Given the description of an element on the screen output the (x, y) to click on. 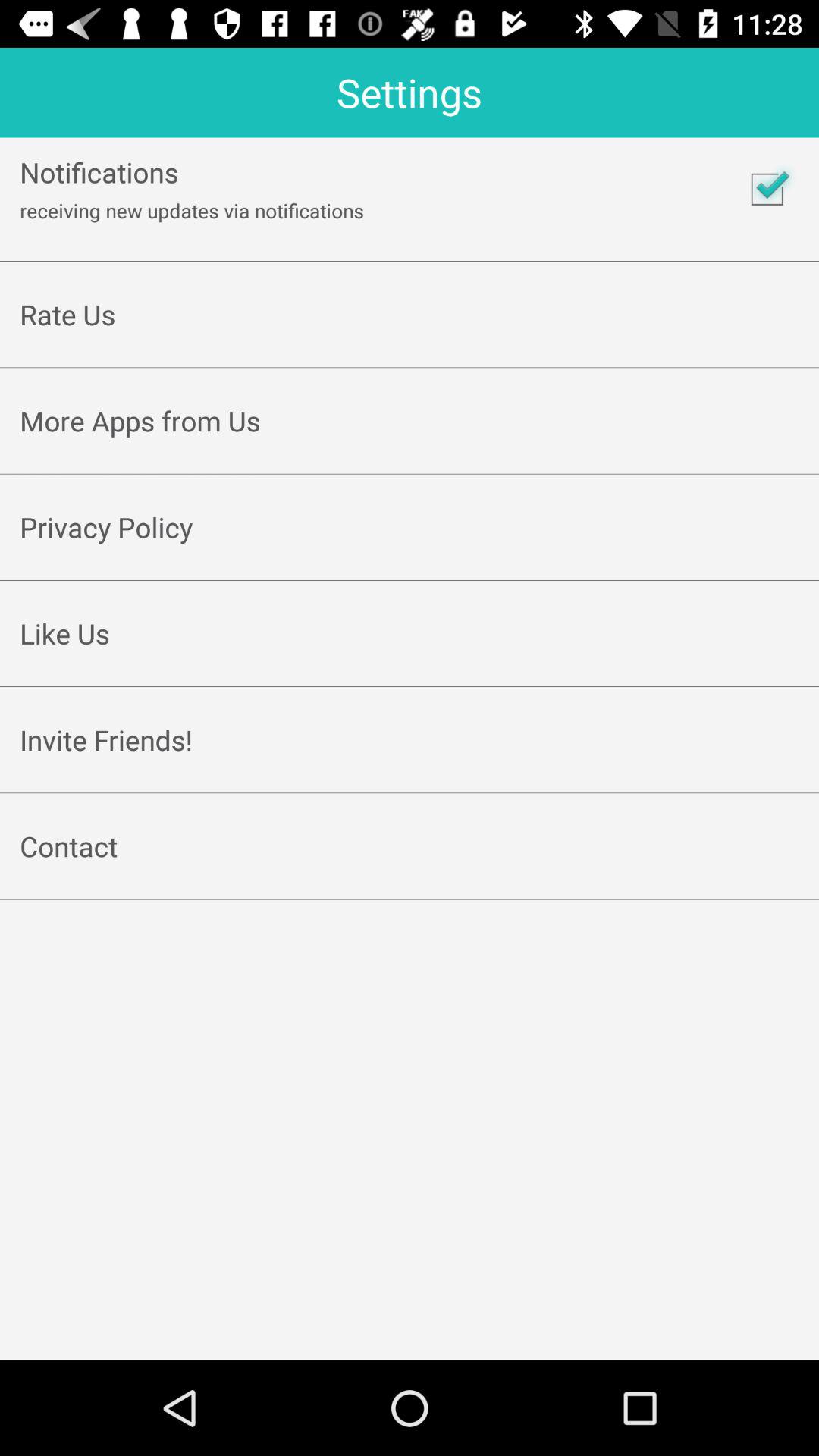
allow notifications (767, 189)
